Given the description of an element on the screen output the (x, y) to click on. 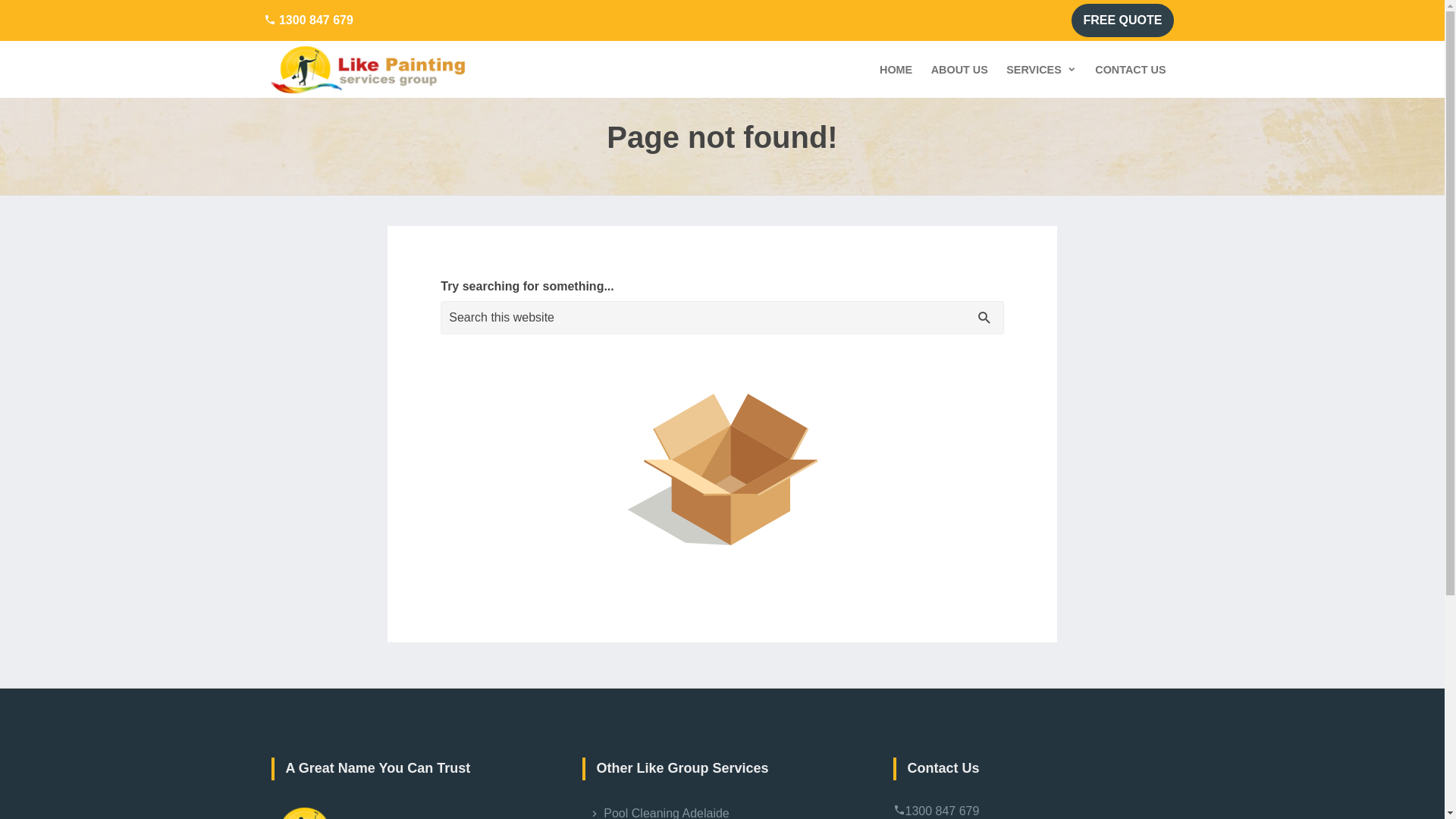
FREE QUOTE Element type: text (1122, 20)
1300 847 679 Element type: text (308, 20)
1300 847 679 Element type: text (942, 810)
ABOUT US Element type: text (959, 68)
Search Element type: text (38, 16)
HOME Element type: text (895, 68)
CONTACT US Element type: text (1130, 68)
SERVICES Element type: text (1041, 68)
